Given the description of an element on the screen output the (x, y) to click on. 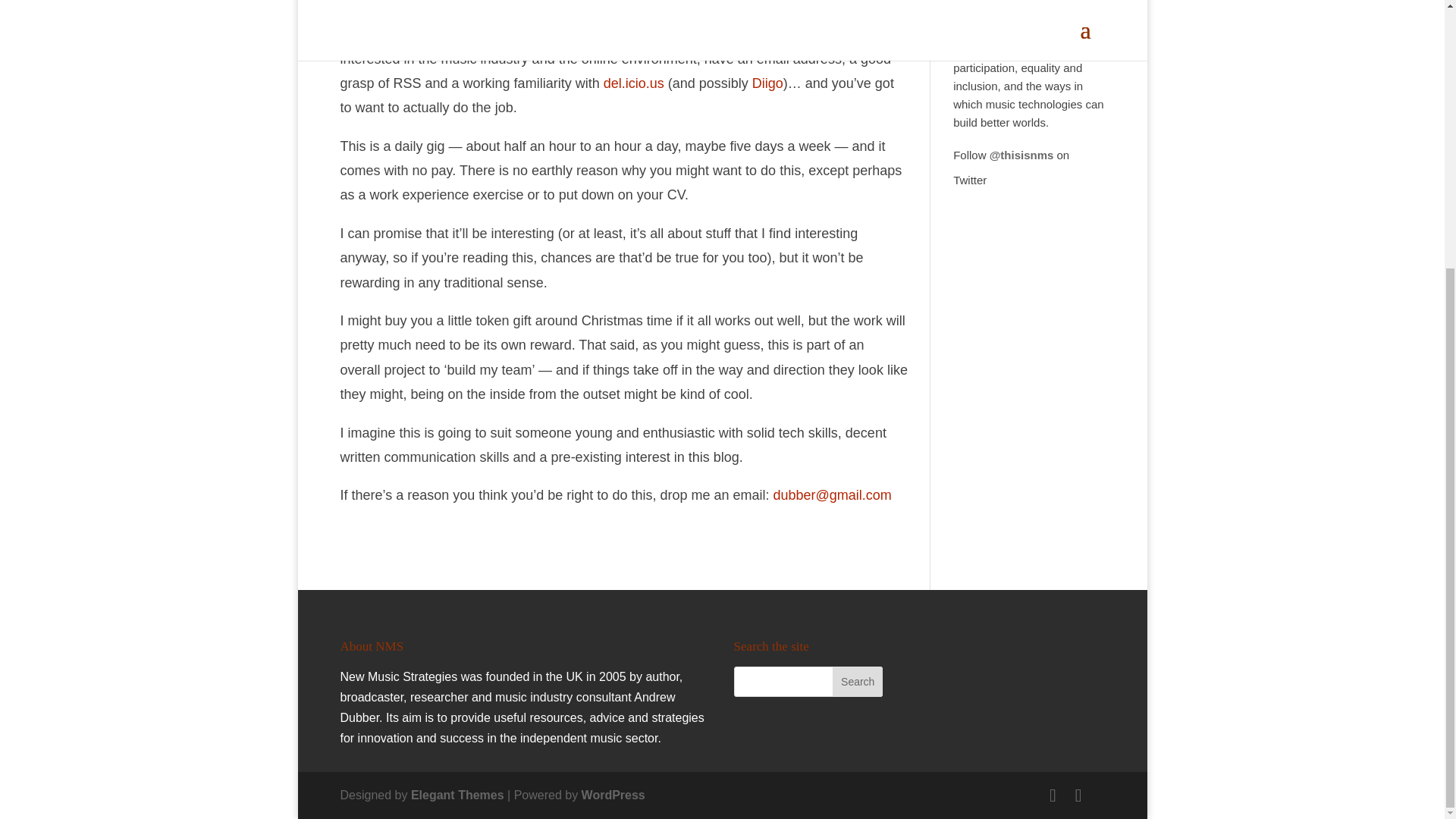
Search (857, 681)
Premium WordPress Themes (456, 794)
del.icio.us (633, 83)
WordPress (612, 794)
Elegant Themes (456, 794)
Search (857, 681)
Diigo (767, 83)
